Given the description of an element on the screen output the (x, y) to click on. 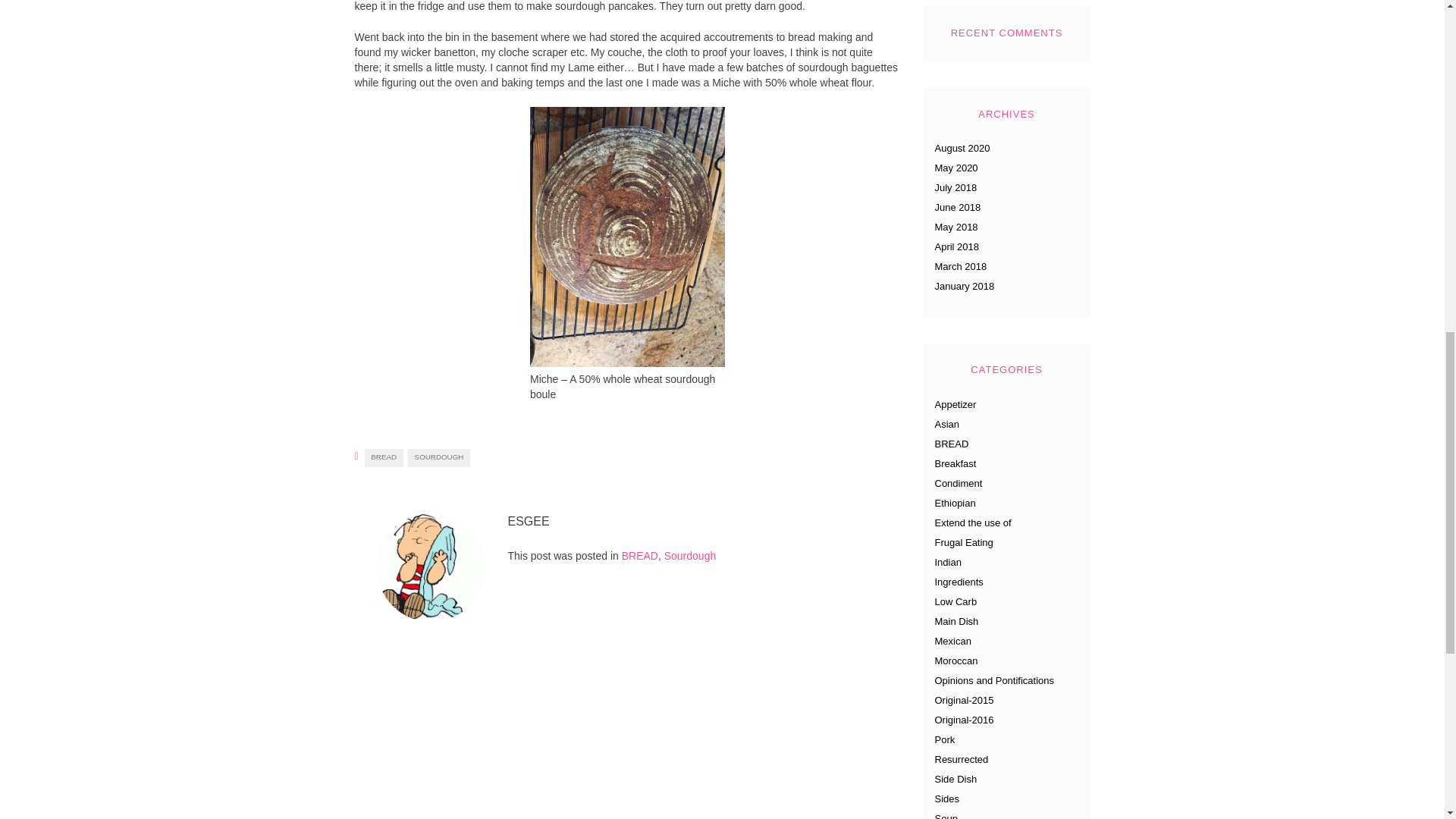
June 2018 (956, 206)
Opinions and Pontifications (994, 680)
BREAD (384, 457)
Ethiopian (954, 502)
Sourdough (689, 555)
Frugal Eating (963, 542)
Low Carb (955, 601)
Ingredients (958, 582)
Breakfast (954, 463)
May 2018 (955, 226)
BREAD (951, 443)
Indian (947, 562)
Main Dish (956, 621)
January 2018 (964, 285)
Asian (946, 423)
